Given the description of an element on the screen output the (x, y) to click on. 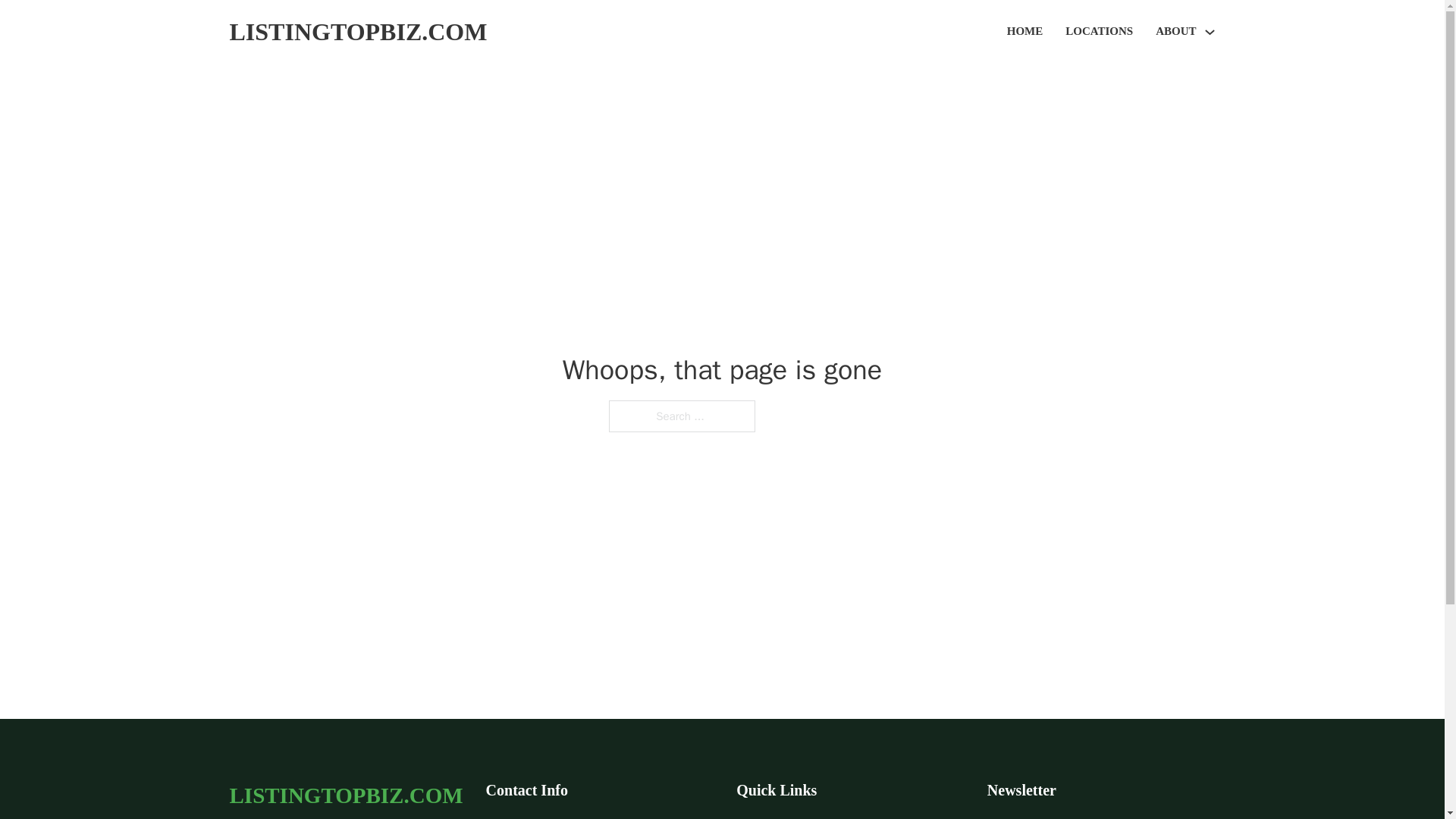
LOCATIONS (1098, 31)
HOME (1025, 31)
LISTINGTOPBIZ.COM (357, 31)
LISTINGTOPBIZ.COM (345, 795)
